Given the description of an element on the screen output the (x, y) to click on. 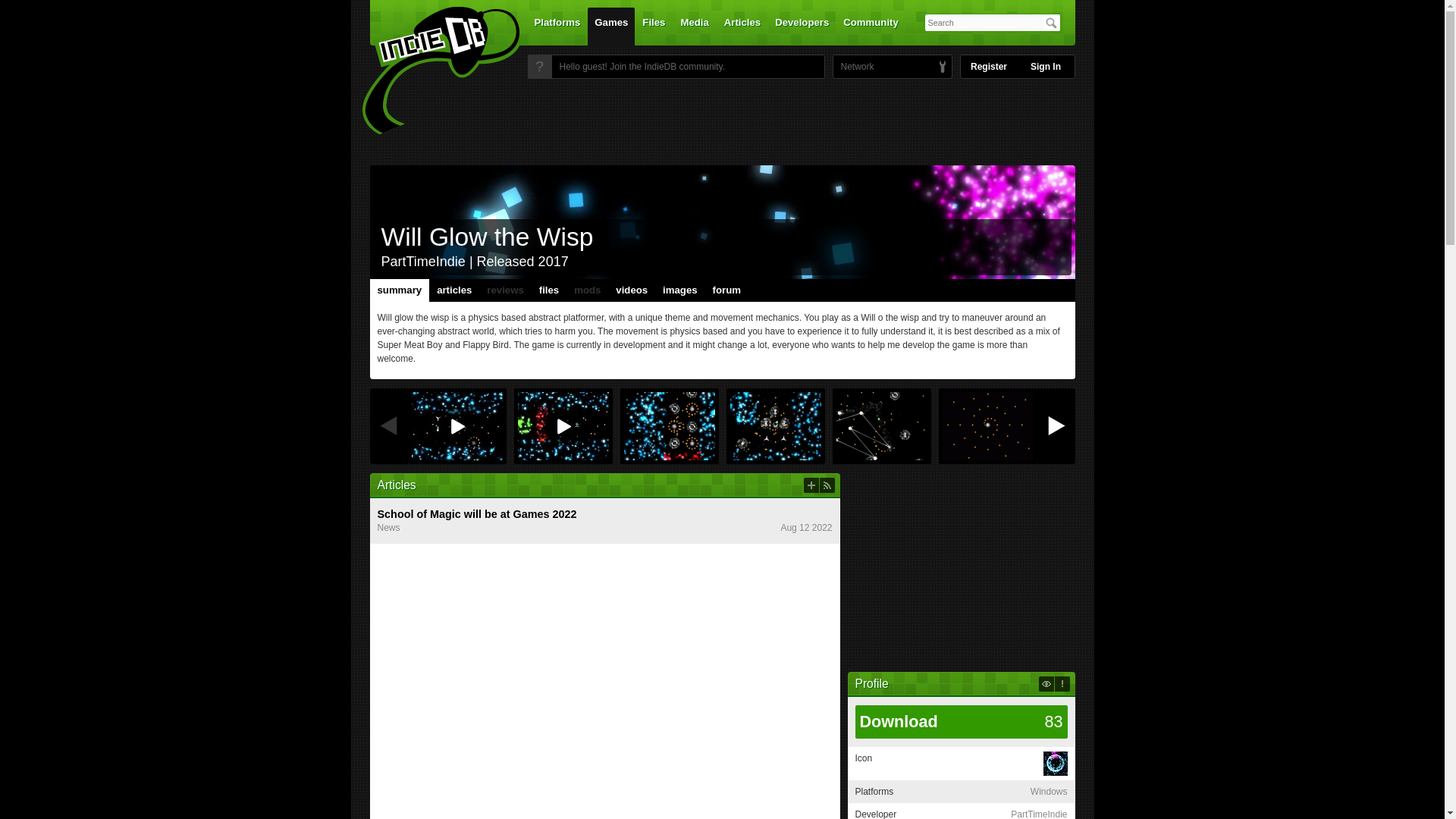
Home (430, 70)
Join IndieDB (539, 66)
Media (694, 26)
Will Glow the Wisp - World 3 Screenshots (668, 426)
3rd party ad content (721, 121)
Will Glow the Wisp - World 3 Screenshots (775, 426)
Will Glow the Wisp - Trailer (456, 426)
Search IndieDB (1050, 22)
DBolical (852, 66)
Will Glow the Wisp - World 3 Screenshots (880, 426)
Articles (742, 26)
Community (870, 26)
Platforms (557, 26)
Developers (801, 26)
Will Glow the Wisp - Prerelease Trailer (562, 426)
